Given the description of an element on the screen output the (x, y) to click on. 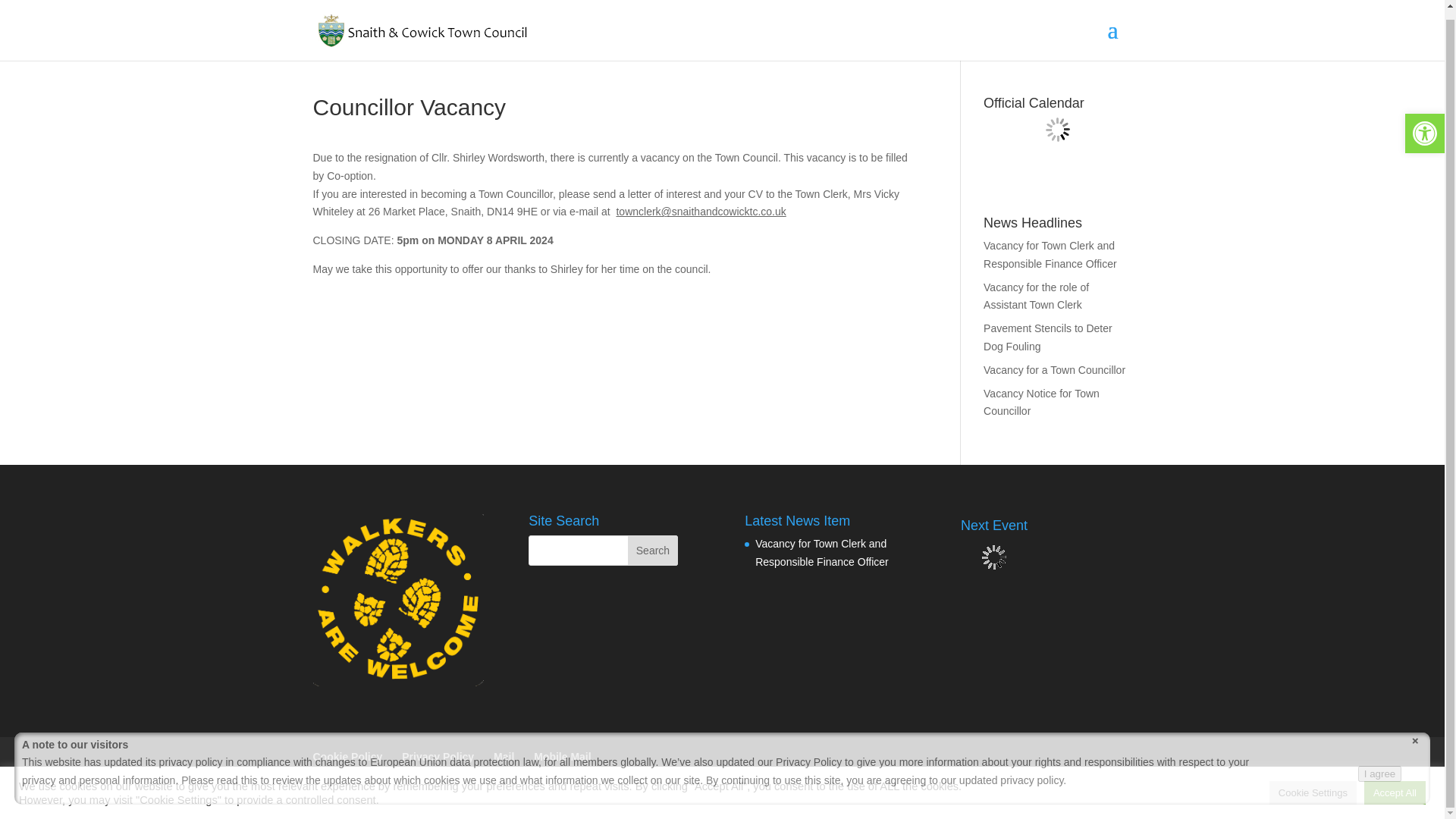
Search (652, 550)
Accessibility Tools (1424, 125)
